Given the description of an element on the screen output the (x, y) to click on. 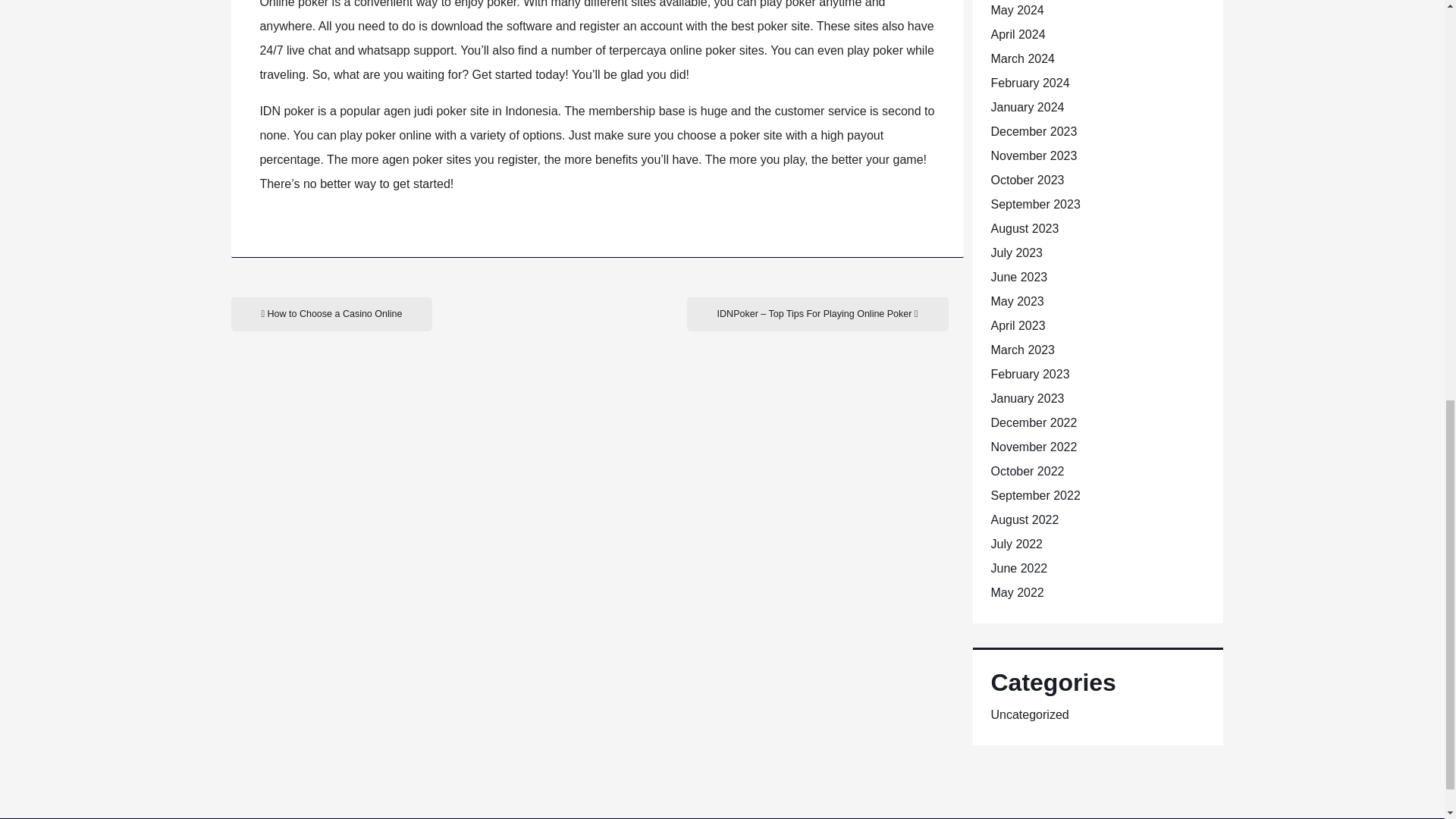
May 2023 (1016, 300)
June 2023 (1018, 277)
April 2024 (1017, 33)
January 2023 (1027, 398)
September 2023 (1035, 204)
January 2024 (1027, 106)
How to Choose a Casino Online (331, 314)
March 2024 (1022, 58)
July 2023 (1016, 252)
February 2024 (1029, 82)
December 2023 (1033, 131)
March 2023 (1022, 349)
November 2023 (1033, 155)
April 2023 (1017, 325)
October 2023 (1027, 179)
